Given the description of an element on the screen output the (x, y) to click on. 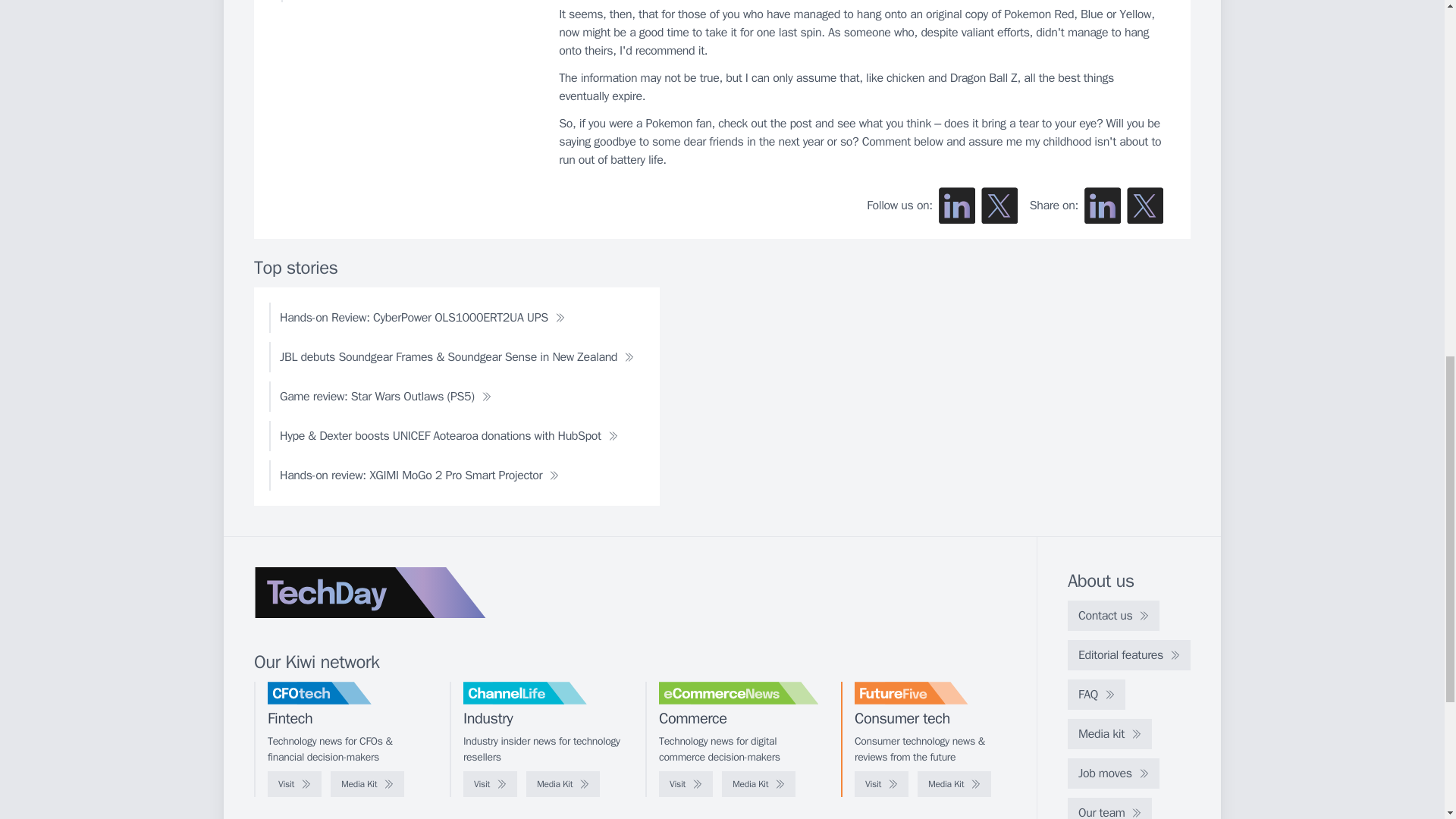
Hands-on Review: CyberPower OLS1000ERT2UA UPS (422, 317)
Visit (489, 783)
Visit (686, 783)
Hands-on review: XGIMI MoGo 2 Pro Smart Projector (419, 475)
Media Kit (562, 783)
Media Kit (367, 783)
Visit (294, 783)
Media Kit (758, 783)
Visit (881, 783)
